Given the description of an element on the screen output the (x, y) to click on. 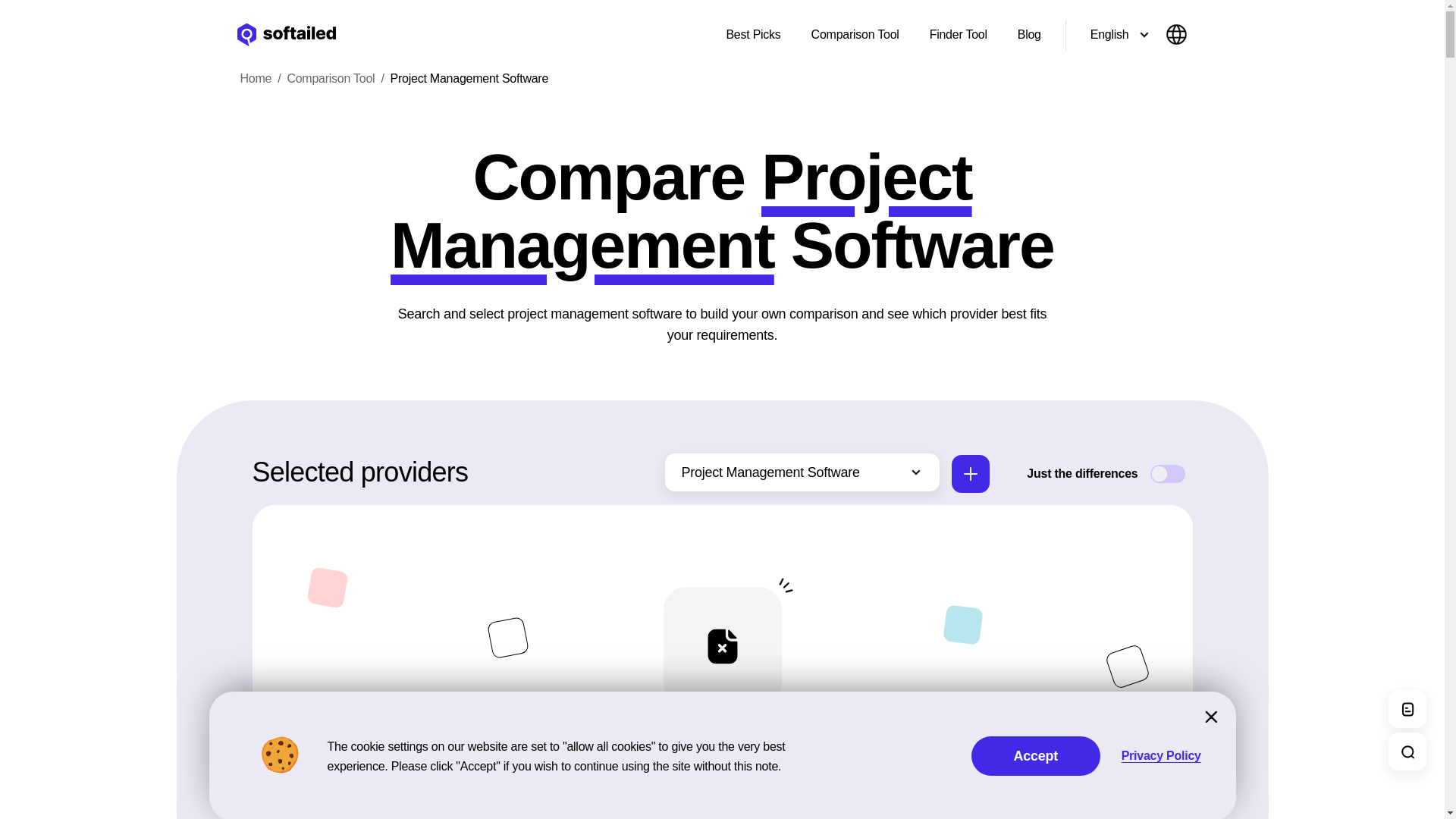
Comparison Tool (855, 34)
English (1128, 34)
Finder Tool (957, 34)
Best Picks (752, 34)
Blog (1029, 34)
Home (245, 78)
Accept (1035, 755)
Privacy Policy (1161, 755)
Comparison Tool (330, 78)
